Given the description of an element on the screen output the (x, y) to click on. 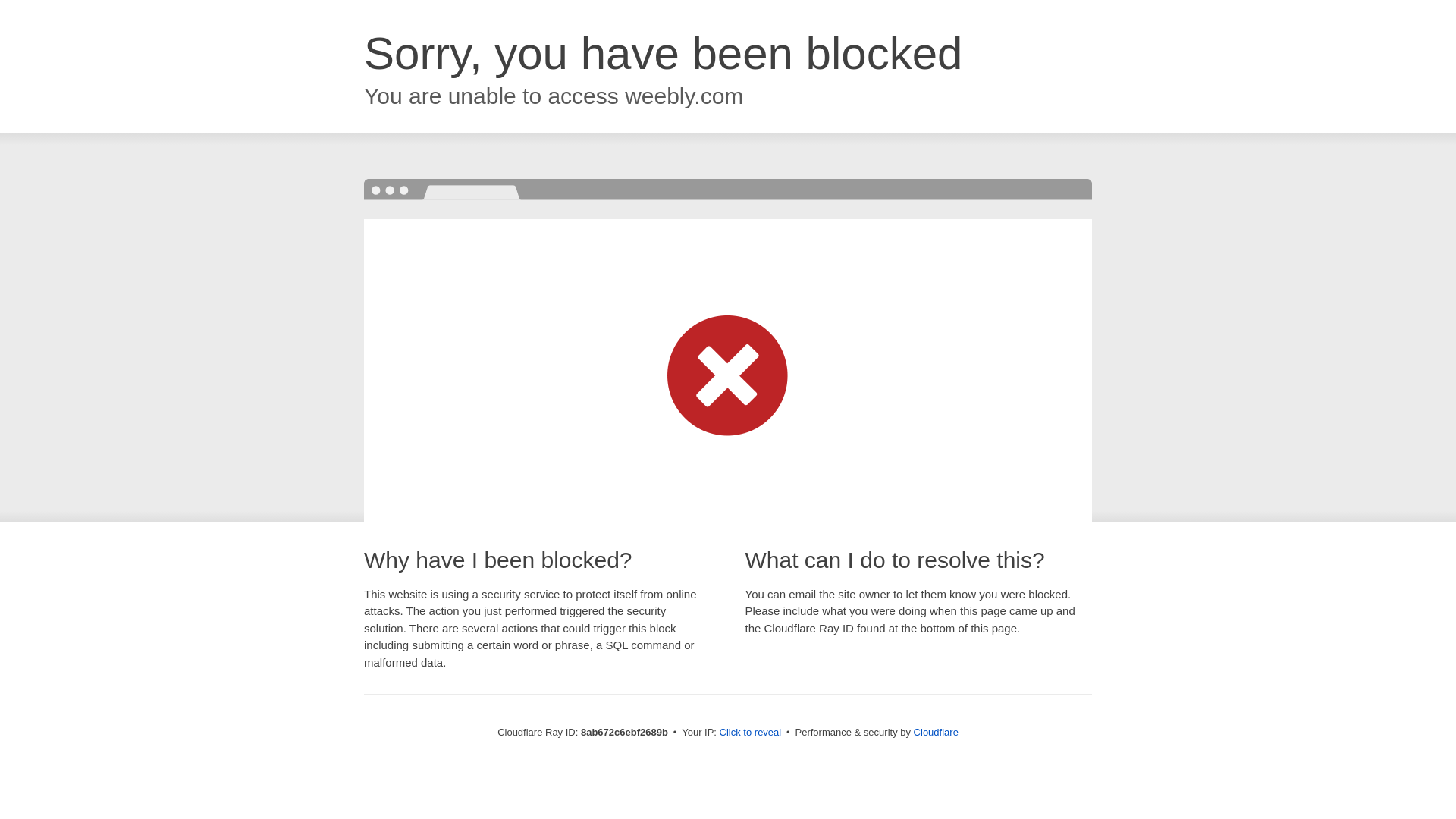
Click to reveal (750, 732)
Cloudflare (936, 731)
